Given the description of an element on the screen output the (x, y) to click on. 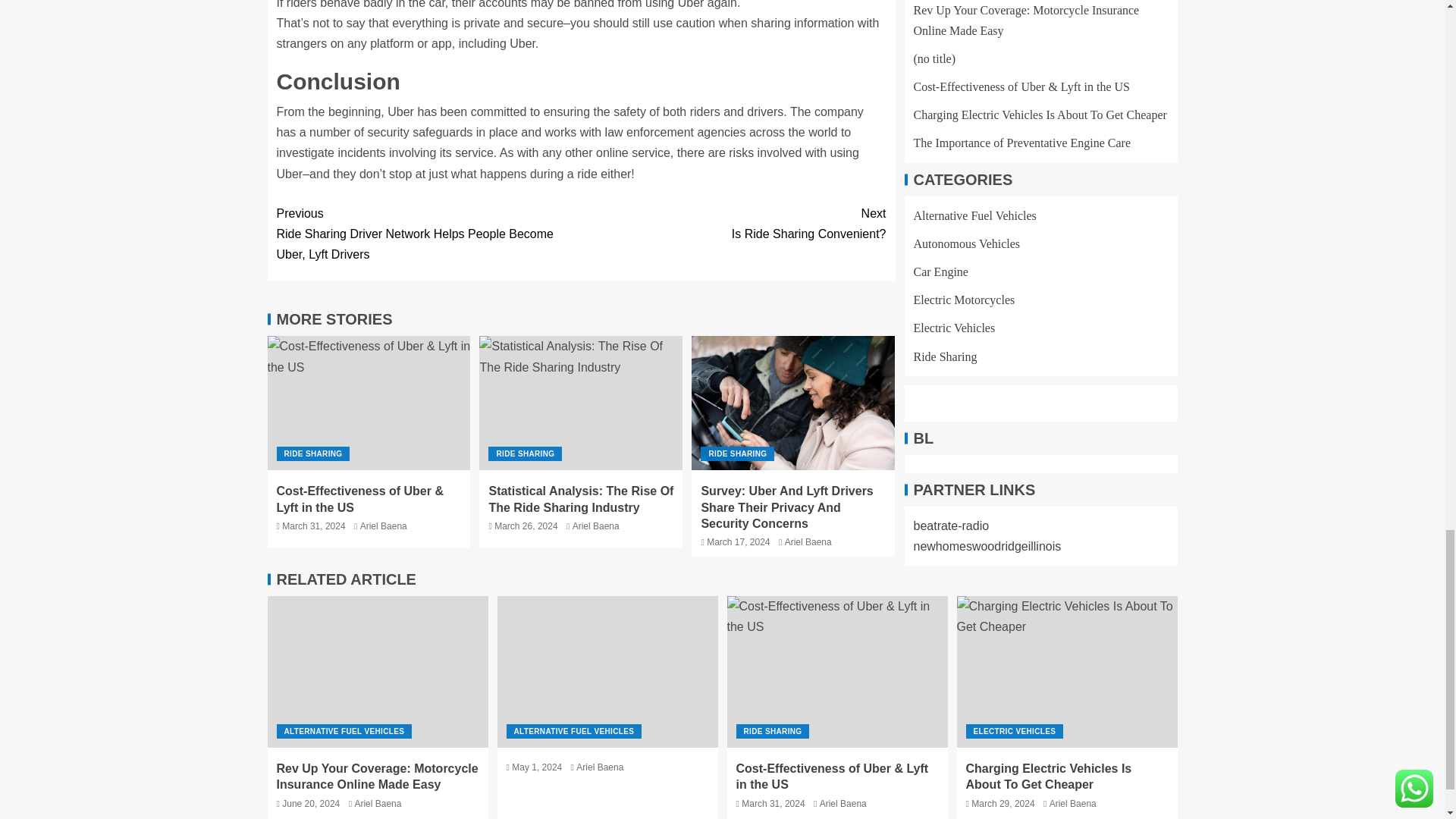
RIDE SHARING (312, 453)
Ariel Baena (732, 223)
Statistical Analysis: The Rise Of The Ride Sharing Industry (383, 525)
